Given the description of an element on the screen output the (x, y) to click on. 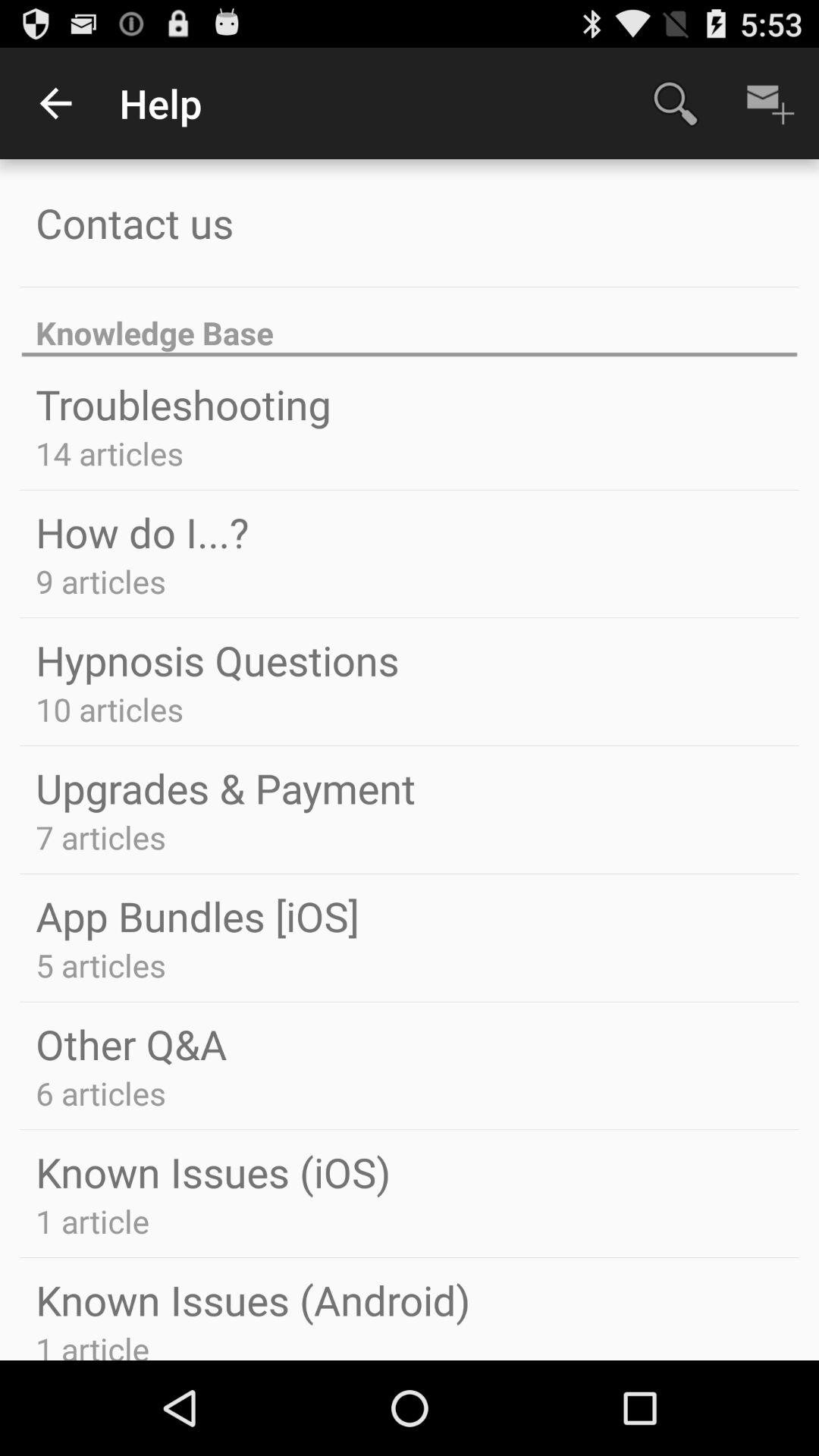
tap 5 articles item (100, 964)
